Given the description of an element on the screen output the (x, y) to click on. 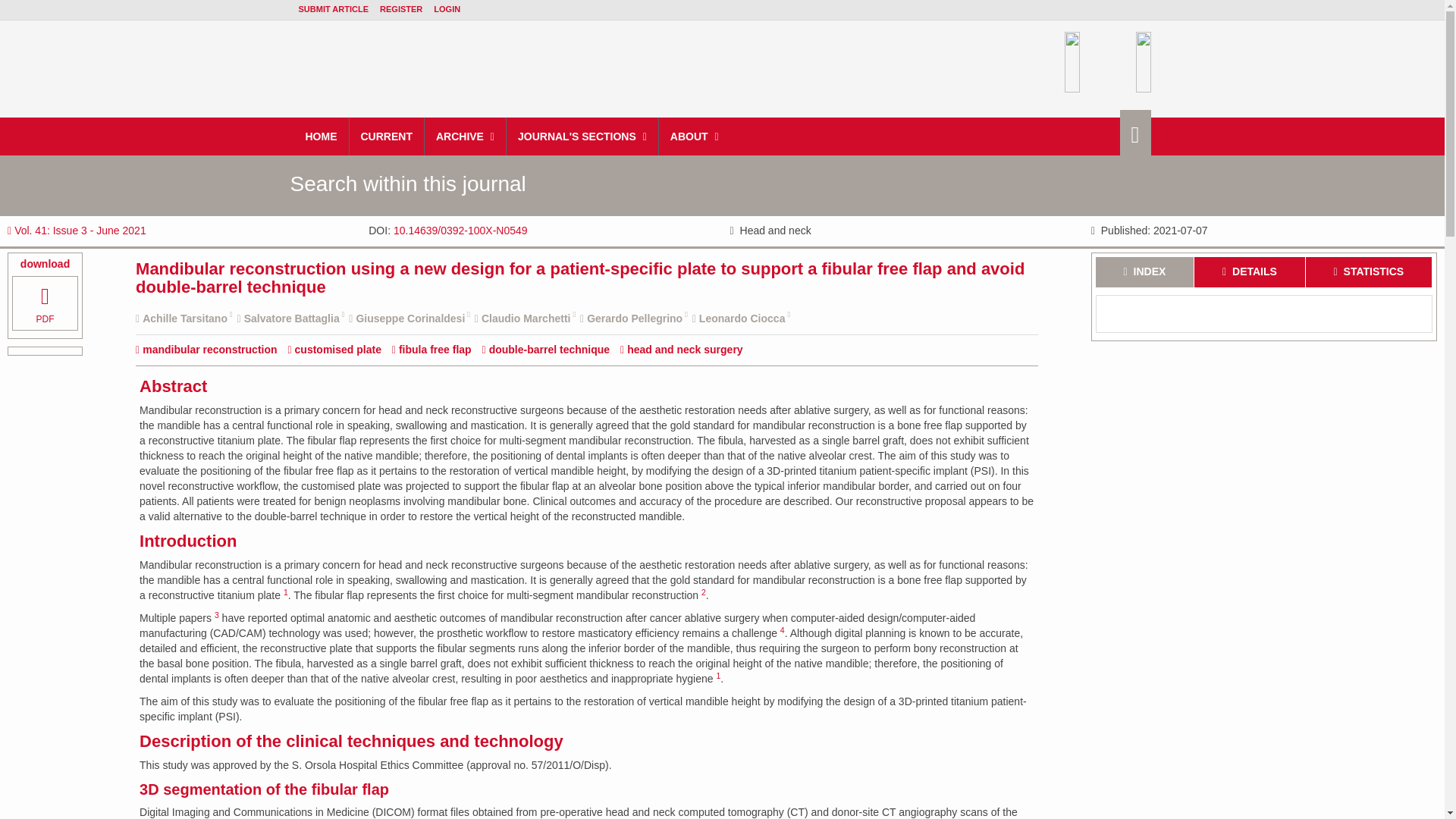
LOGIN (446, 8)
ARCHIVE (465, 136)
REGISTER (401, 8)
ABOUT (694, 136)
CURRENT (386, 136)
HOME (321, 136)
SUBMIT ARTICLE (333, 8)
JOURNAL'S SECTIONS (582, 136)
